Given the description of an element on the screen output the (x, y) to click on. 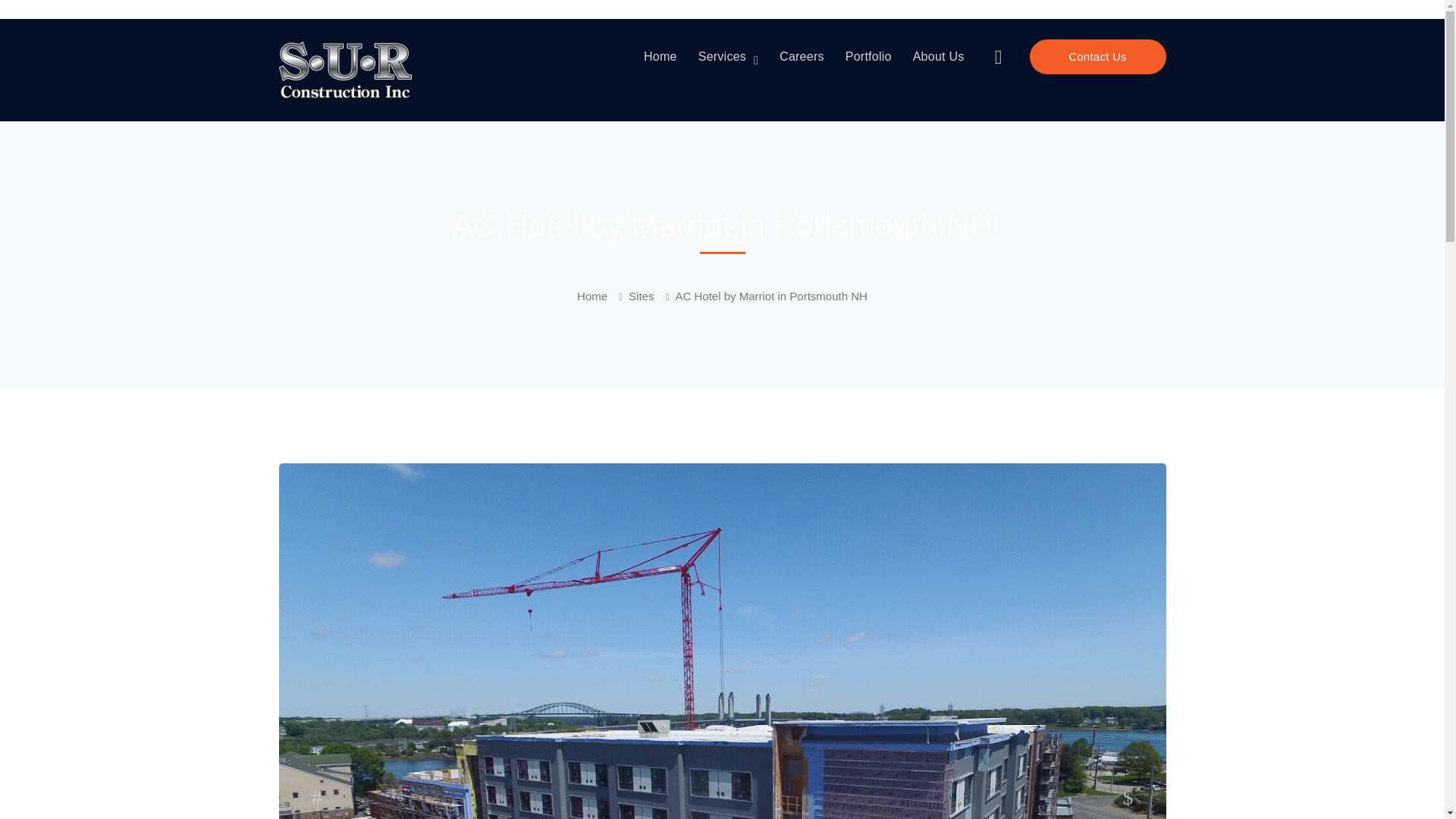
Home (602, 295)
Contact Us (1097, 56)
Sites (651, 295)
SUR Construction (345, 69)
